Given the description of an element on the screen output the (x, y) to click on. 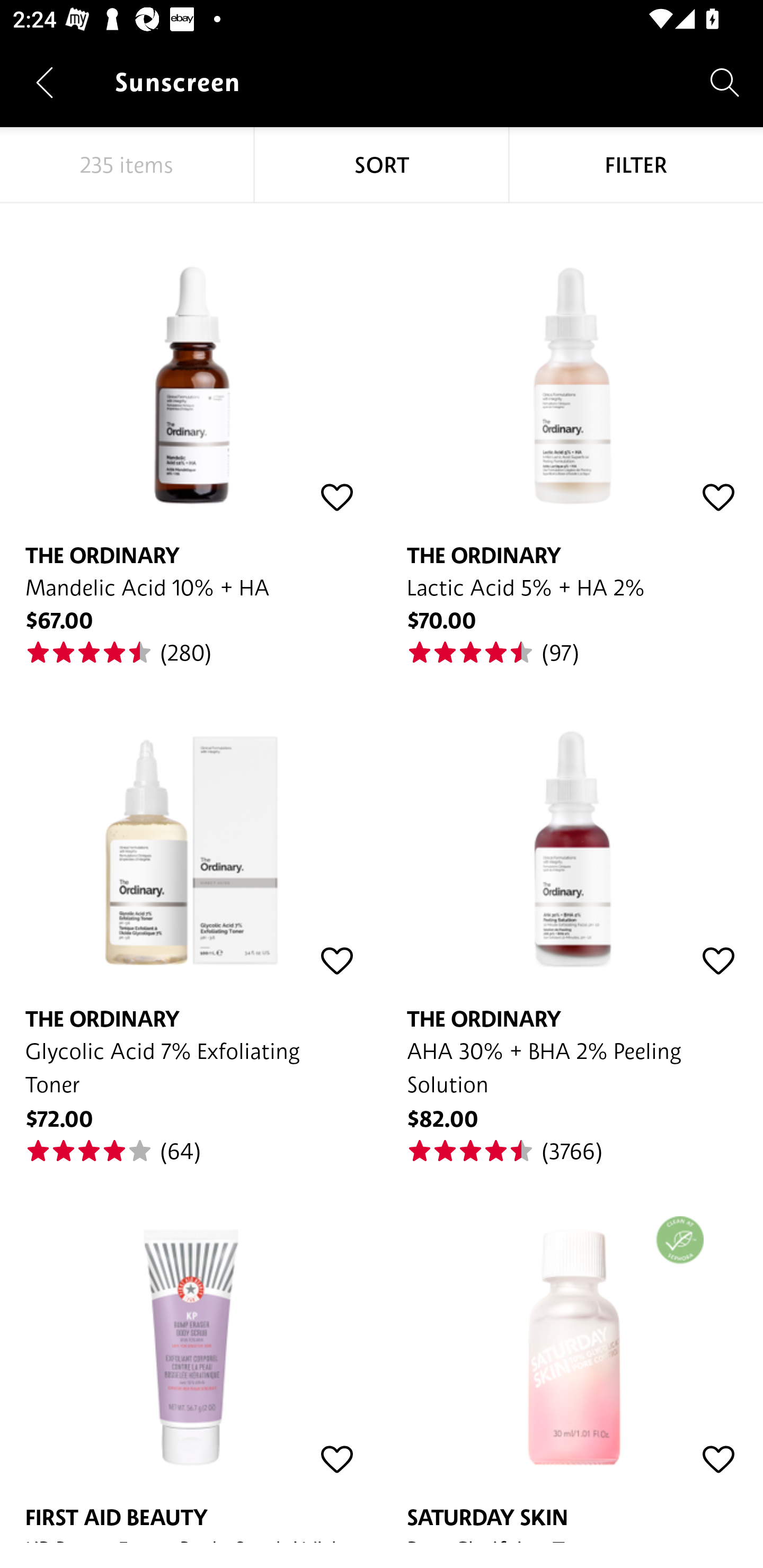
Navigate up (44, 82)
Search (724, 81)
SORT (381, 165)
FILTER (636, 165)
THE ORDINARY Mandelic Acid 10% + HA $67.00 (280) (190, 434)
THE ORDINARY Lactic Acid 5% + HA 2% $70.00 (97) (571, 434)
SATURDAY SKIN Pore Clarifying Toner (571, 1353)
